Given the description of an element on the screen output the (x, y) to click on. 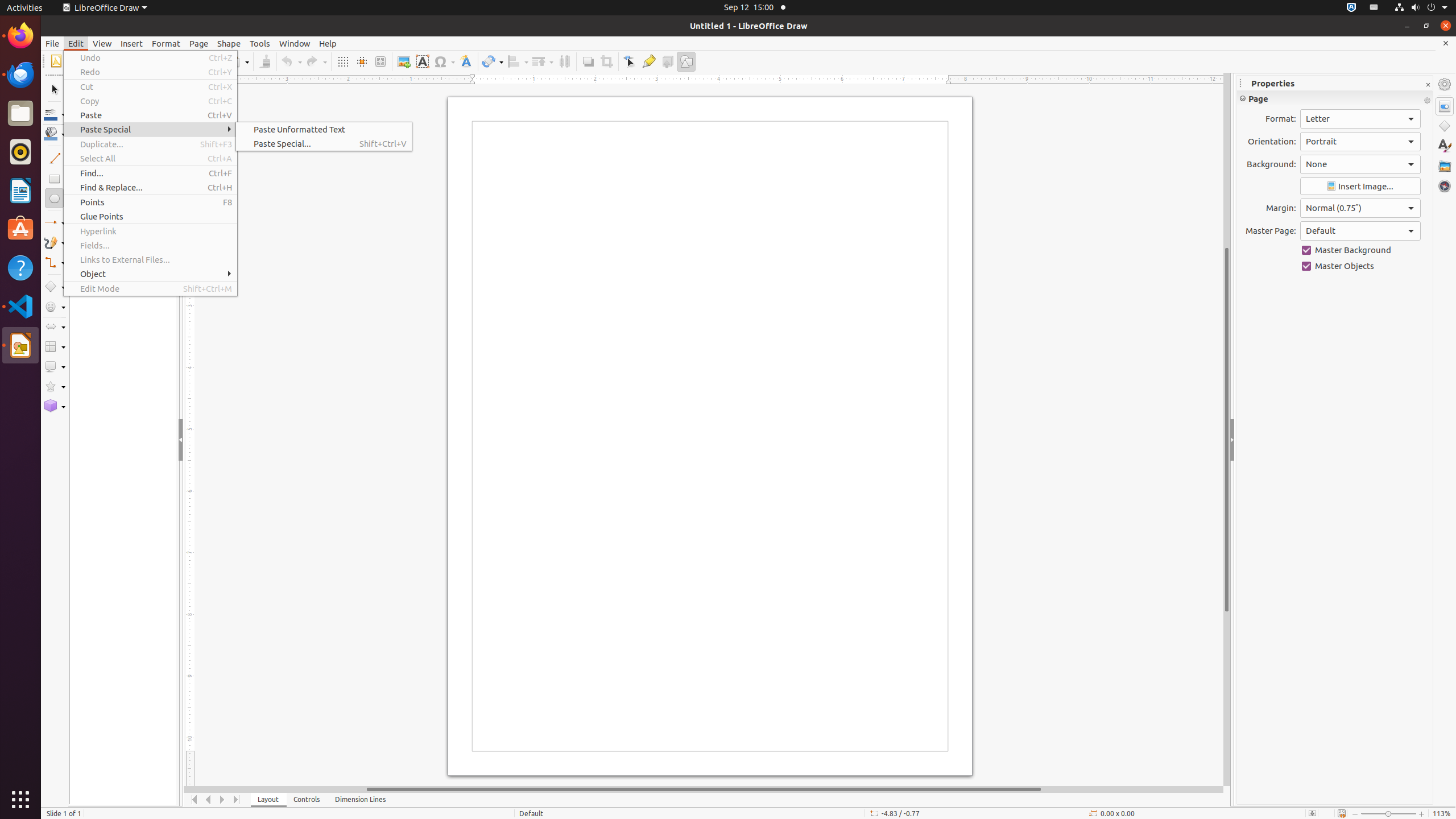
Horizontal scroll bar Element type: scroll-bar (703, 789)
Select All Element type: menu-item (150, 158)
Transformations Element type: push-button (492, 61)
Redo Element type: push-button (315, 61)
Grid Element type: toggle-button (342, 61)
